Given the description of an element on the screen output the (x, y) to click on. 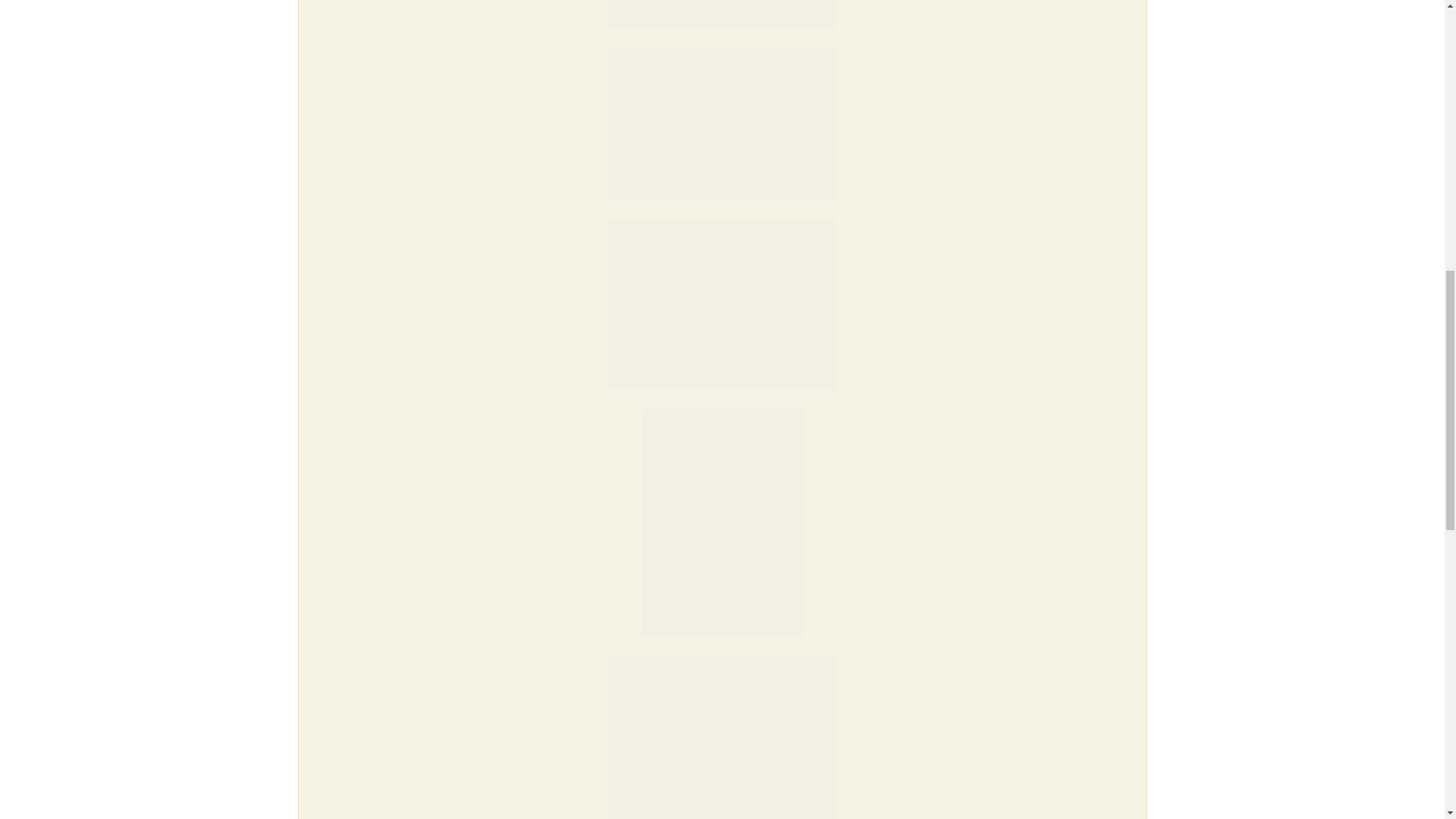
Scroll back to top (1406, 720)
